Given the description of an element on the screen output the (x, y) to click on. 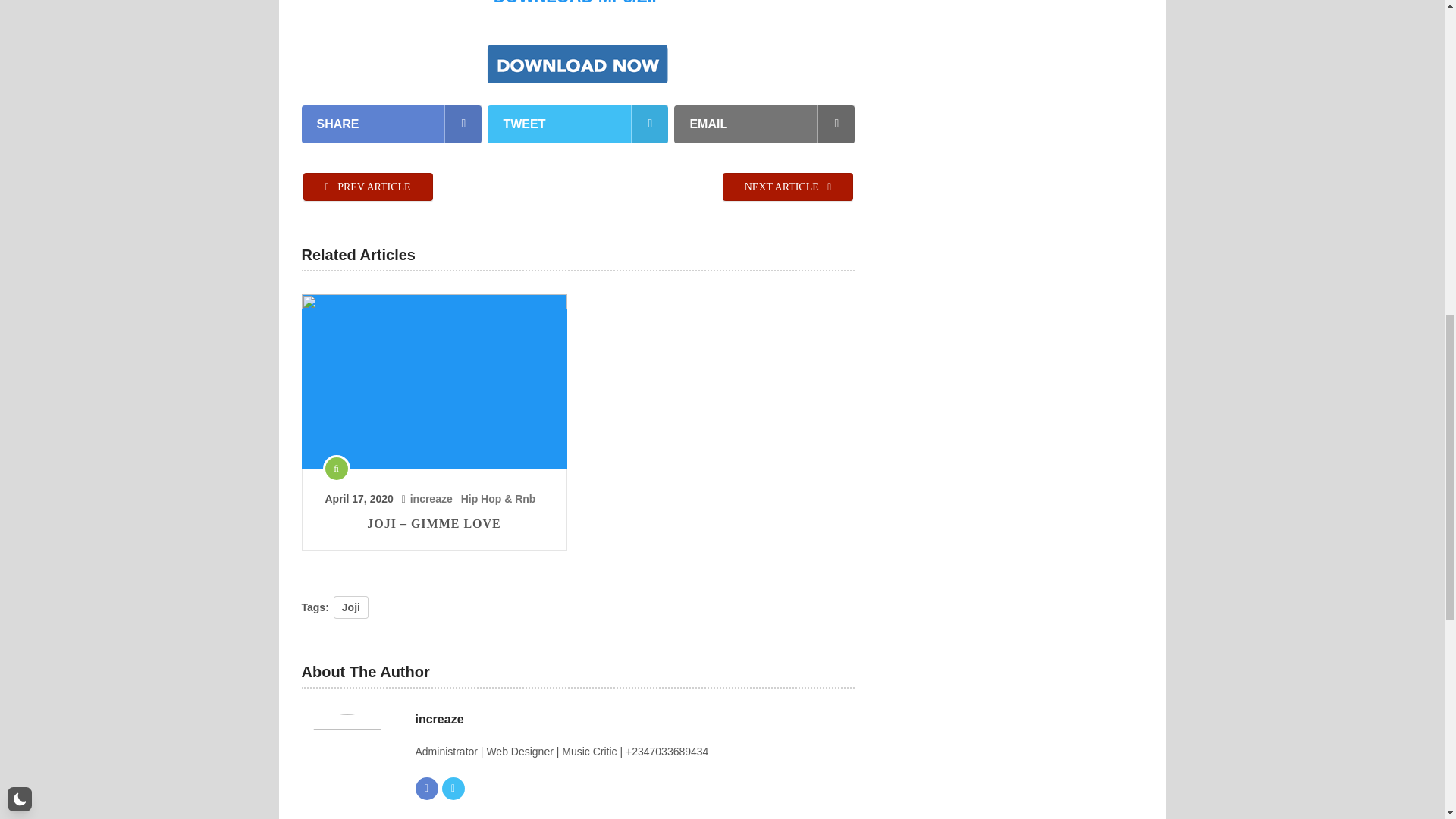
increaze (431, 499)
Joji (350, 607)
TWEET (577, 124)
PREV ARTICLE (367, 186)
increaze (439, 719)
Posts by increaze (431, 499)
EMAIL (764, 124)
SHARE (391, 124)
NEXT ARTICLE (787, 186)
